Given the description of an element on the screen output the (x, y) to click on. 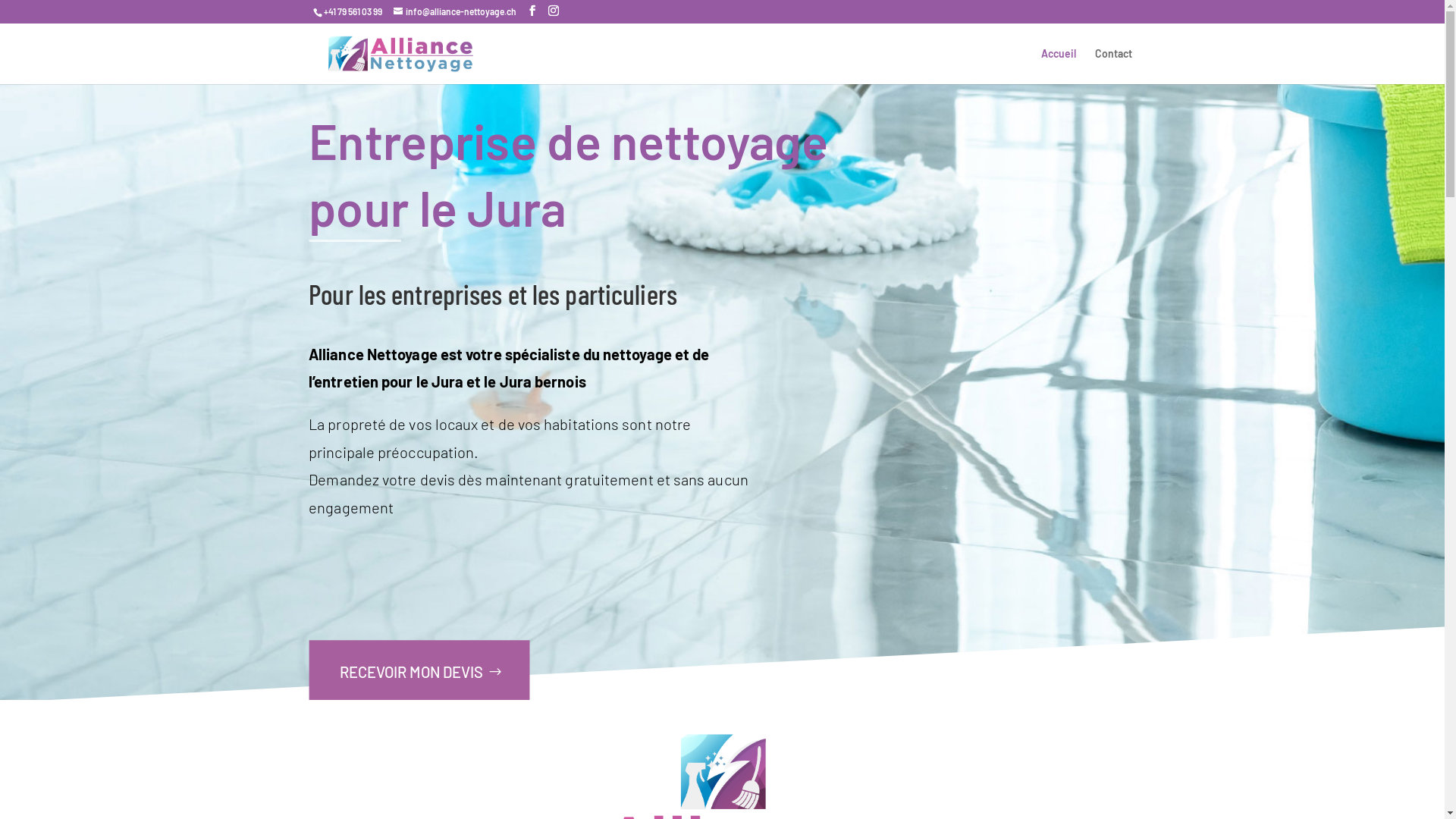
Contact Element type: text (1113, 66)
RECEVOIR MON DEVIS Element type: text (417, 671)
info@alliance-nettoyage.ch Element type: text (453, 11)
Accueil Element type: text (1057, 66)
